Given the description of an element on the screen output the (x, y) to click on. 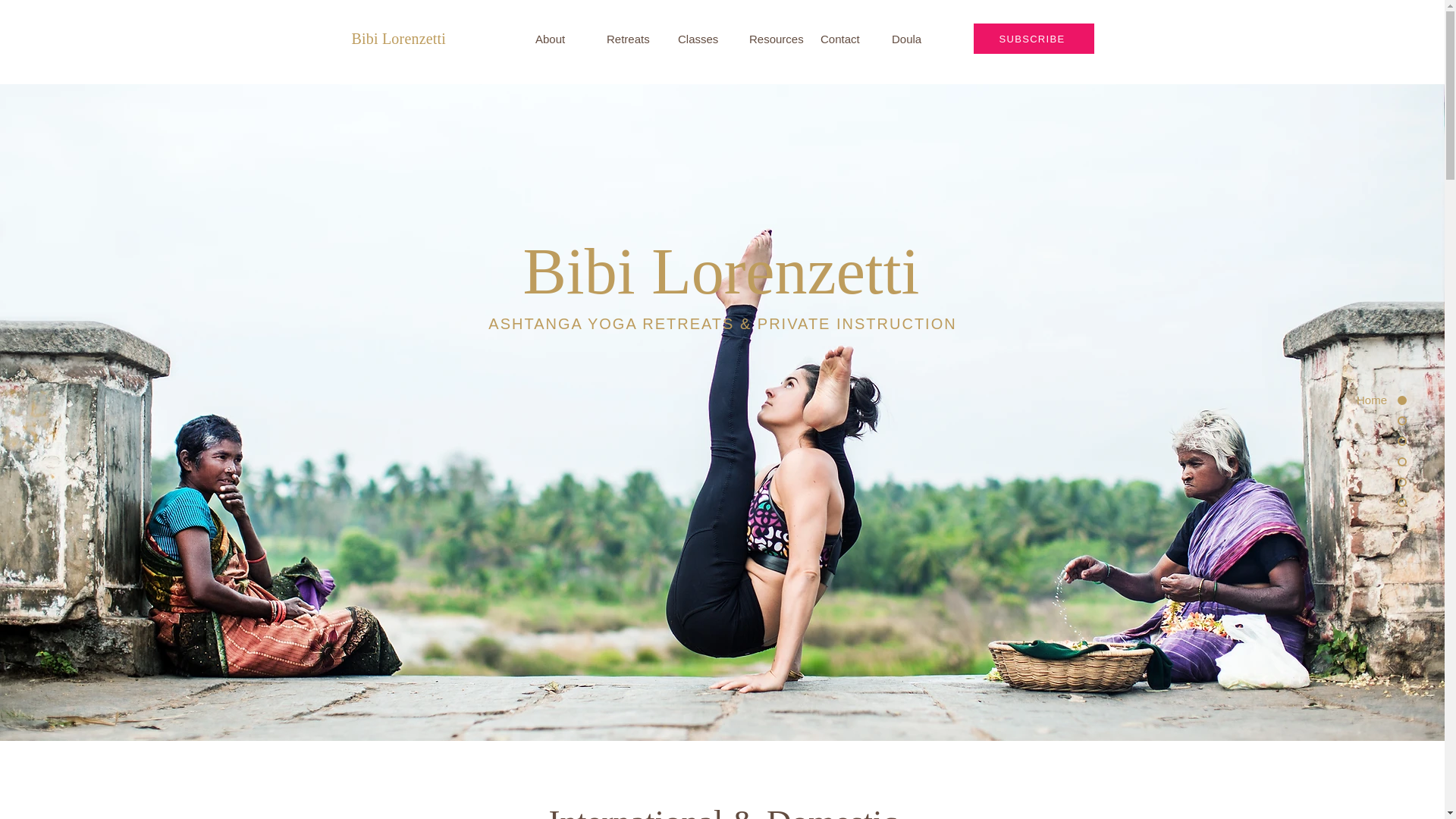
Home (1345, 399)
Resources (773, 39)
About (559, 39)
SUBSCRIBE (1034, 38)
Bibi Lorenzetti (399, 38)
Contact (844, 39)
Doula (916, 39)
Retreats (630, 39)
